Given the description of an element on the screen output the (x, y) to click on. 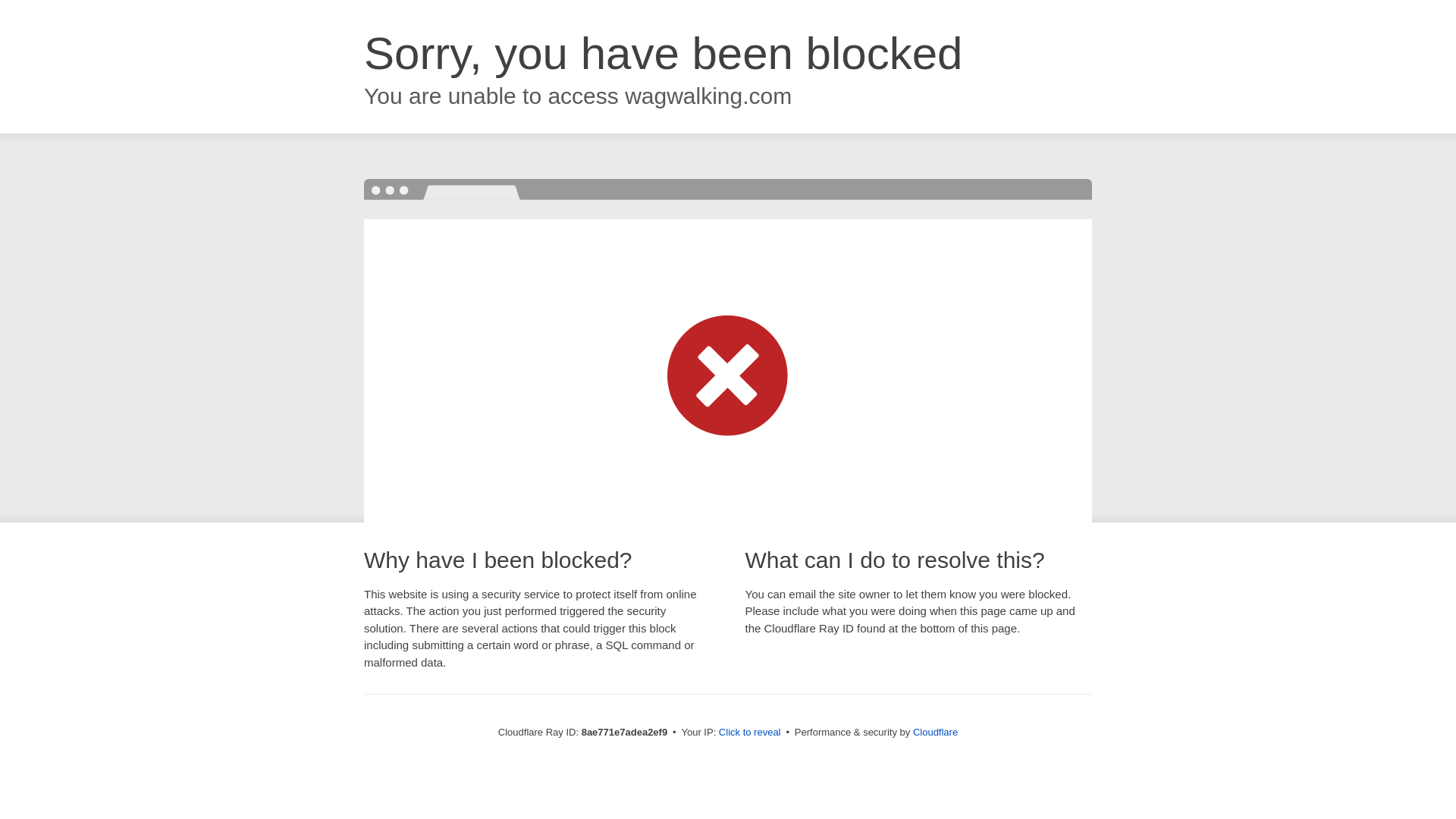
Cloudflare (935, 731)
Click to reveal (749, 732)
